Given the description of an element on the screen output the (x, y) to click on. 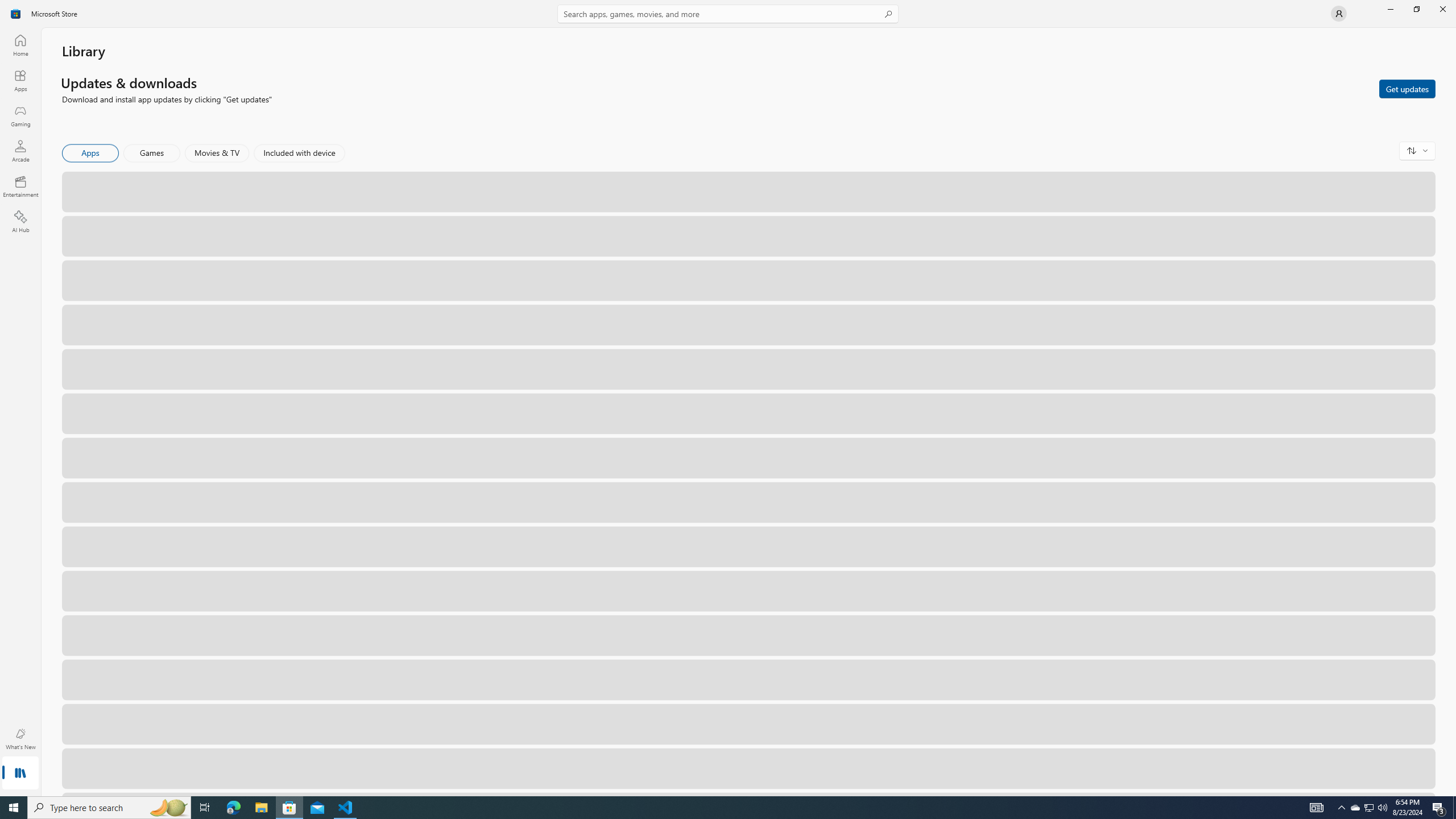
Library (20, 773)
Apps (90, 153)
Close Microsoft Store (1442, 9)
Sort and filter (1417, 149)
AutomationID: NavigationControl (728, 398)
Home (20, 45)
Movies & TV (216, 153)
Open (1366, 768)
Games (151, 153)
Class: Image (15, 13)
Minimize Microsoft Store (1390, 9)
Search (727, 13)
What's New (20, 738)
More options (1419, 768)
Arcade (20, 150)
